Given the description of an element on the screen output the (x, y) to click on. 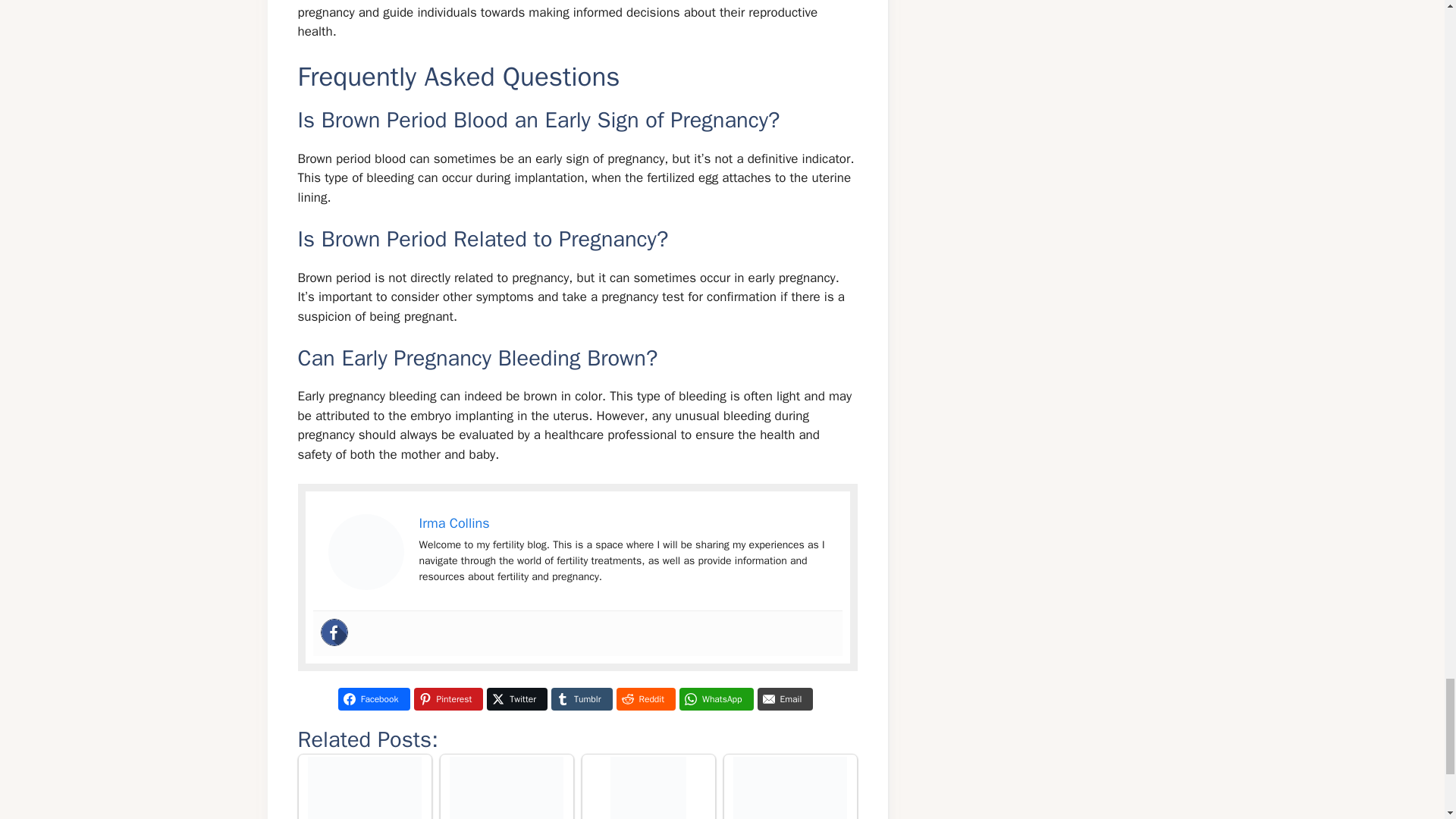
Irma Collins (454, 523)
Pinterest (448, 698)
Twitter (516, 698)
Facebook (373, 698)
Tumblr (581, 698)
